Given the description of an element on the screen output the (x, y) to click on. 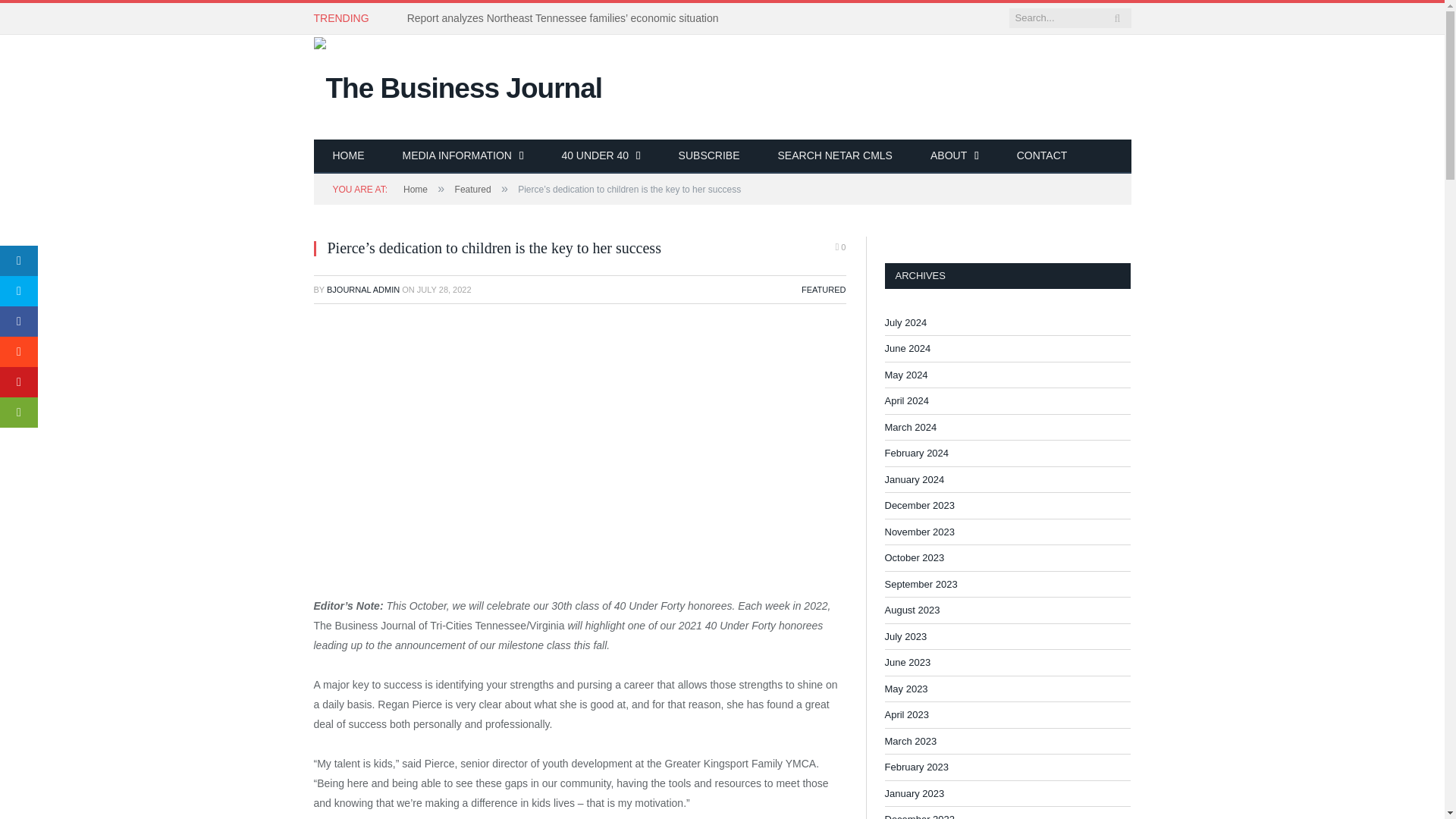
Posts by BJournal Admin (362, 289)
CONTACT (1041, 156)
BJOURNAL ADMIN (362, 289)
MEDIA INFORMATION (463, 156)
2022-07-28 (443, 289)
HOME (349, 156)
ABOUT (954, 156)
40 UNDER 40 (600, 156)
Home (415, 189)
The Business Journal (458, 85)
Featured (473, 189)
SEARCH NETAR CMLS (834, 156)
FEATURED (823, 289)
SUBSCRIBE (708, 156)
